Given the description of an element on the screen output the (x, y) to click on. 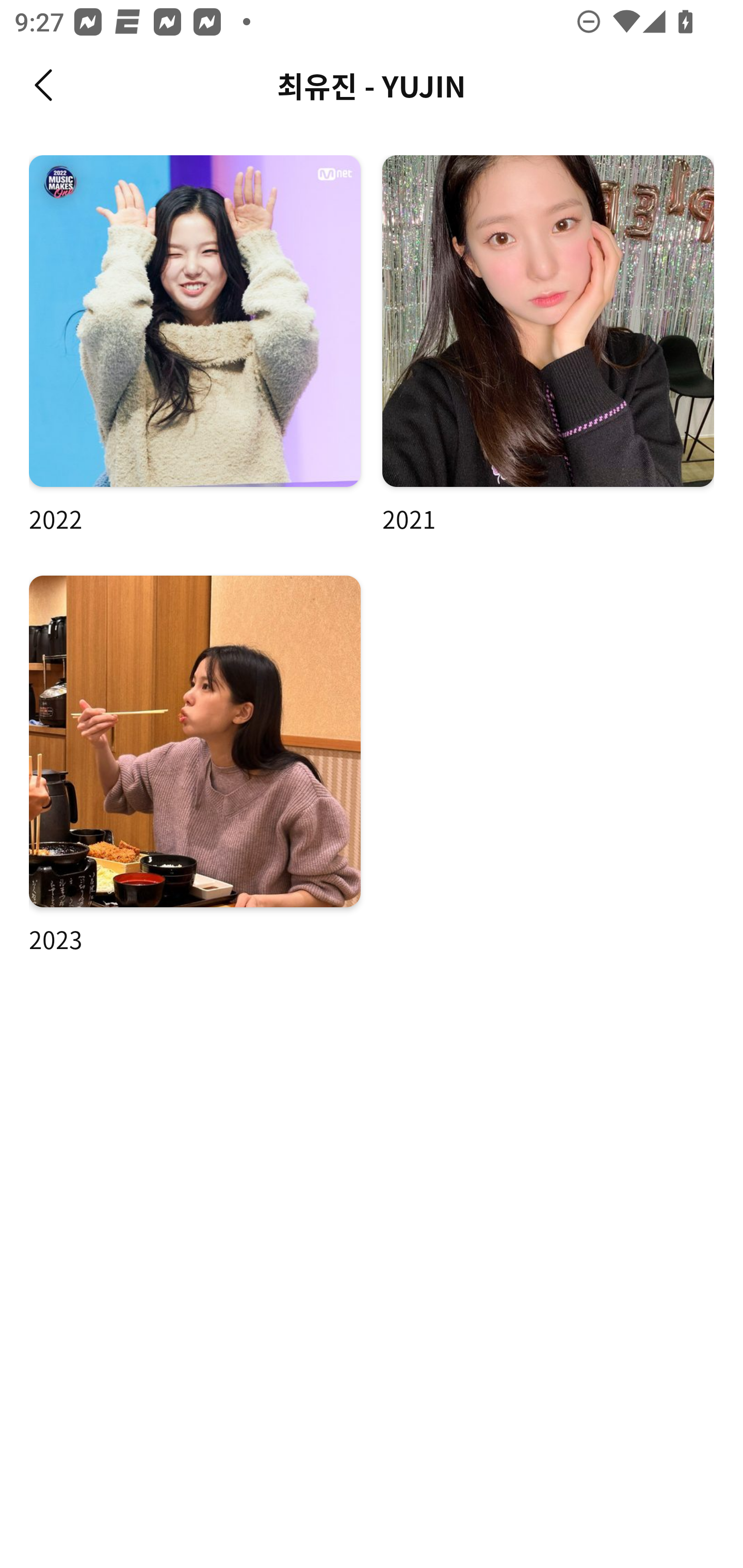
2022 (194, 345)
2021 (548, 345)
2023 (194, 765)
